Given the description of an element on the screen output the (x, y) to click on. 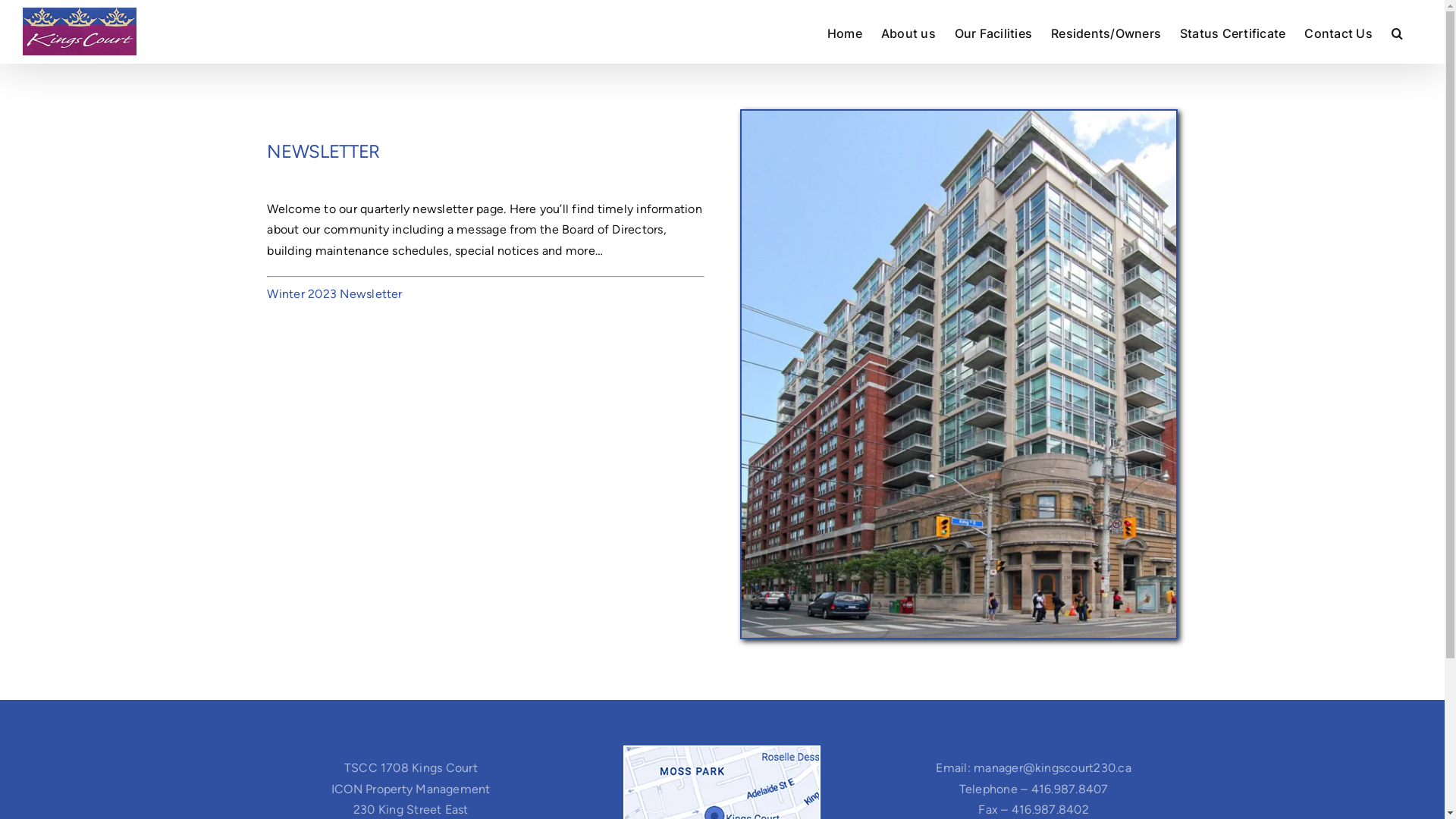
Our Facilities Element type: text (993, 31)
Contact Us Element type: text (1337, 31)
Winter 2023 Newsletter Element type: text (333, 293)
Kingscourt_home_image Element type: hover (958, 373)
Status Certificate Element type: text (1232, 31)
Search Element type: hover (1396, 31)
Residents/Owners Element type: text (1106, 31)
About us Element type: text (908, 31)
Home Element type: text (844, 31)
